Given the description of an element on the screen output the (x, y) to click on. 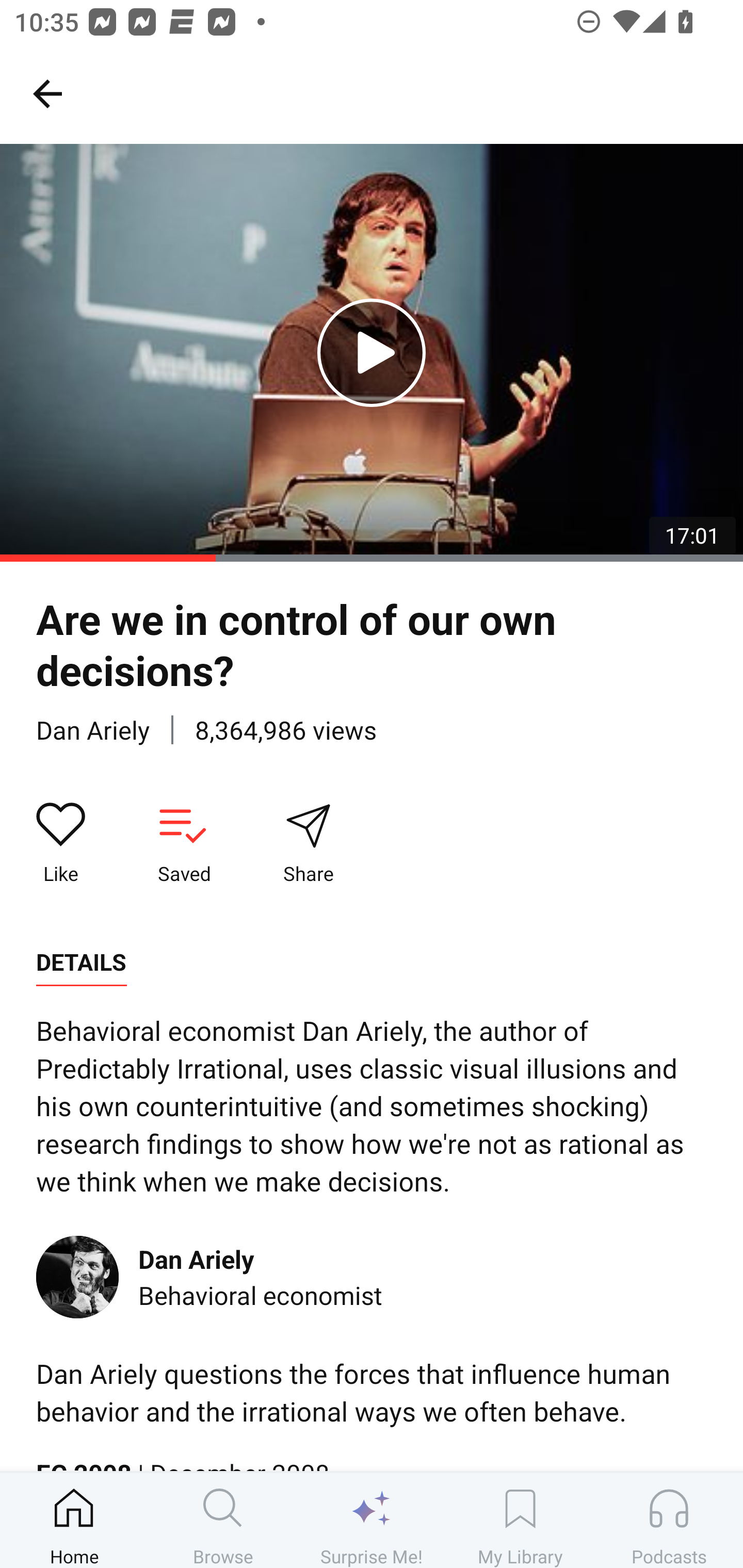
Home, back (47, 92)
Like (60, 843)
Saved (183, 843)
Share (308, 843)
DETAILS (80, 962)
Home (74, 1520)
Browse (222, 1520)
Surprise Me! (371, 1520)
My Library (519, 1520)
Podcasts (668, 1520)
